Given the description of an element on the screen output the (x, y) to click on. 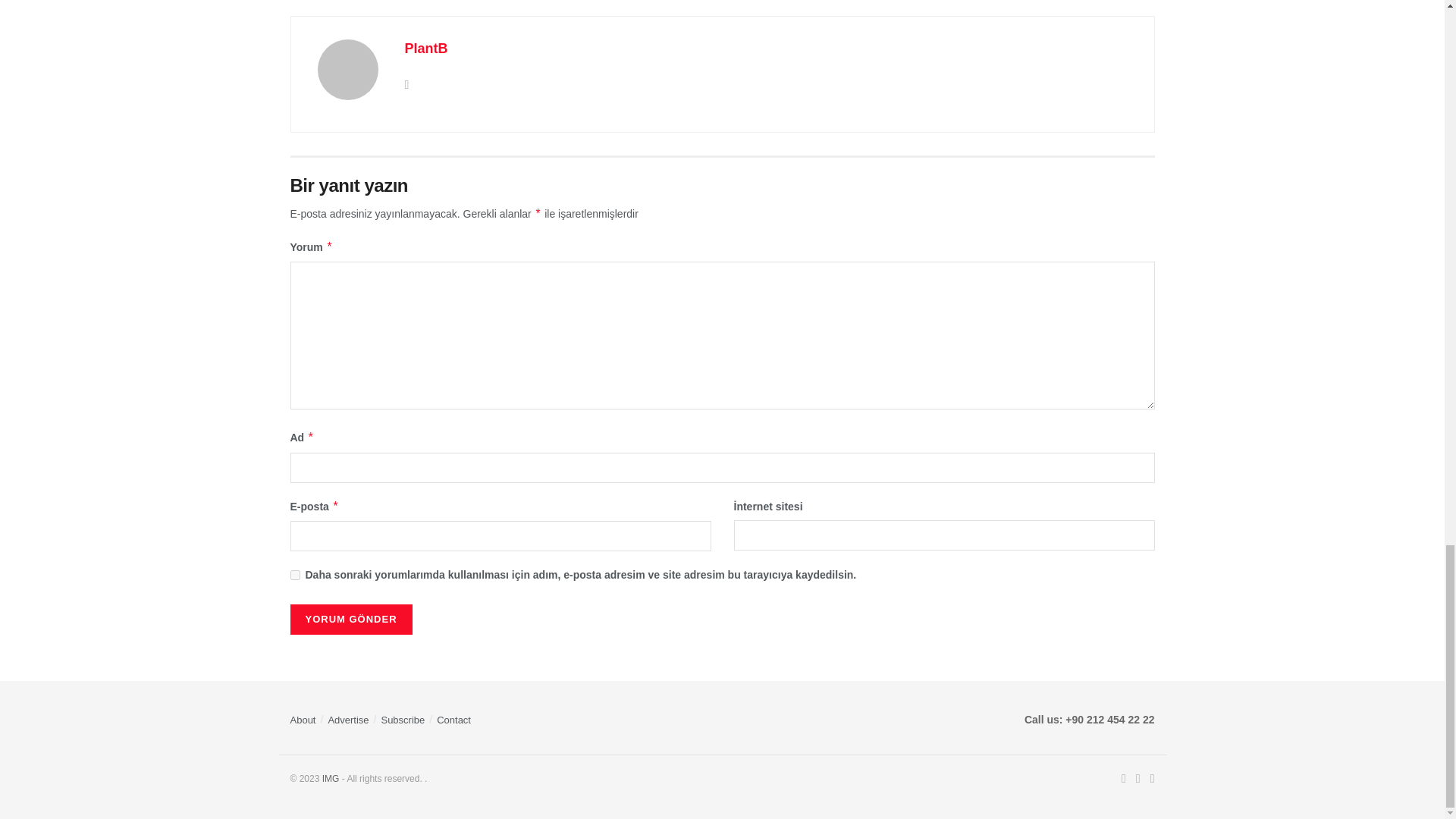
yes (294, 574)
